Given the description of an element on the screen output the (x, y) to click on. 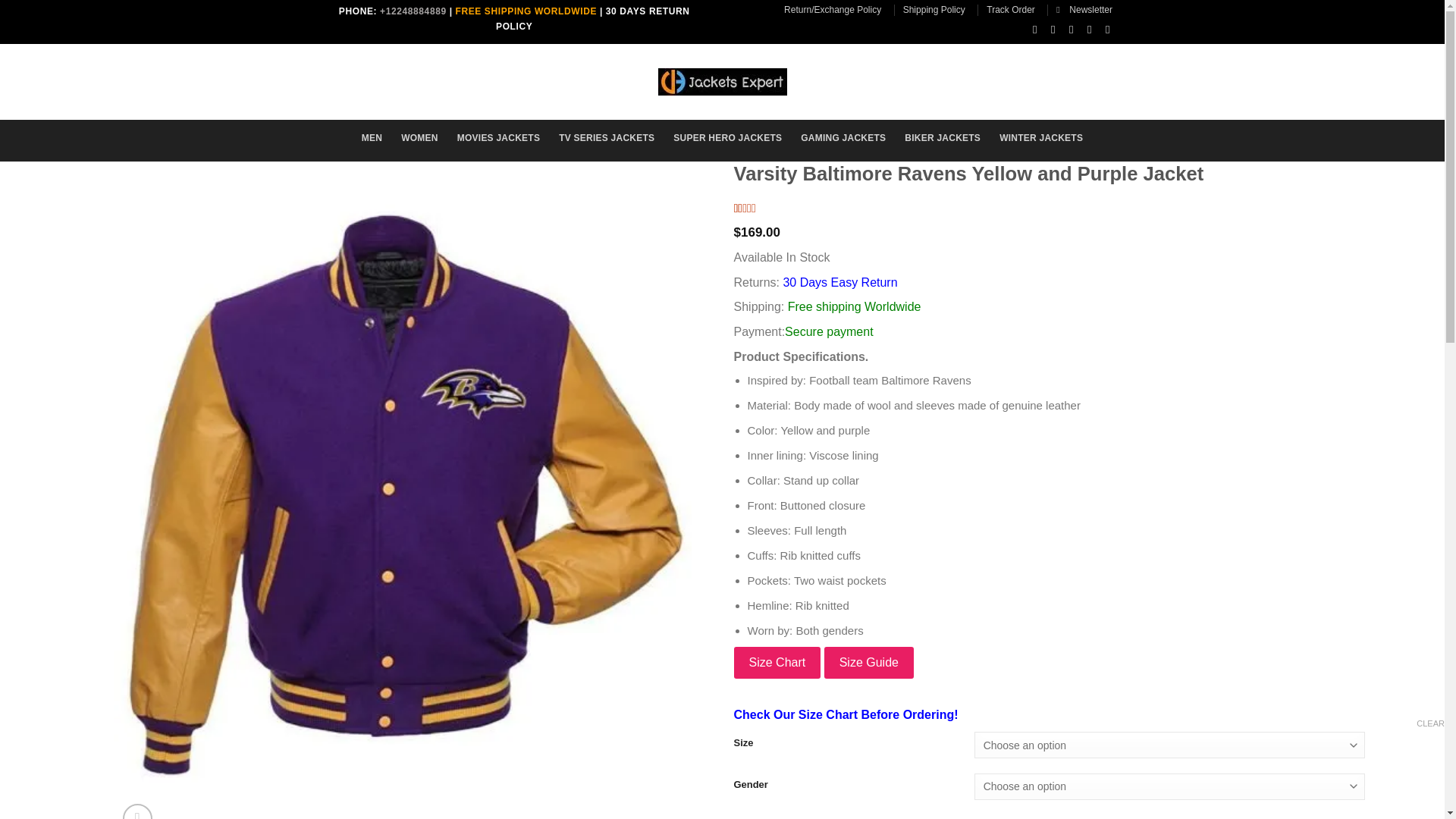
Zoom (137, 811)
BIKER JACKETS (941, 137)
WINTER JACKETS (1040, 137)
Track Order (1011, 9)
WOMEN (419, 137)
Jackets Expert (721, 81)
Cart (1072, 78)
Sign up for Newsletter (1084, 9)
Size Guide (869, 662)
Size Chart (777, 662)
